Given the description of an element on the screen output the (x, y) to click on. 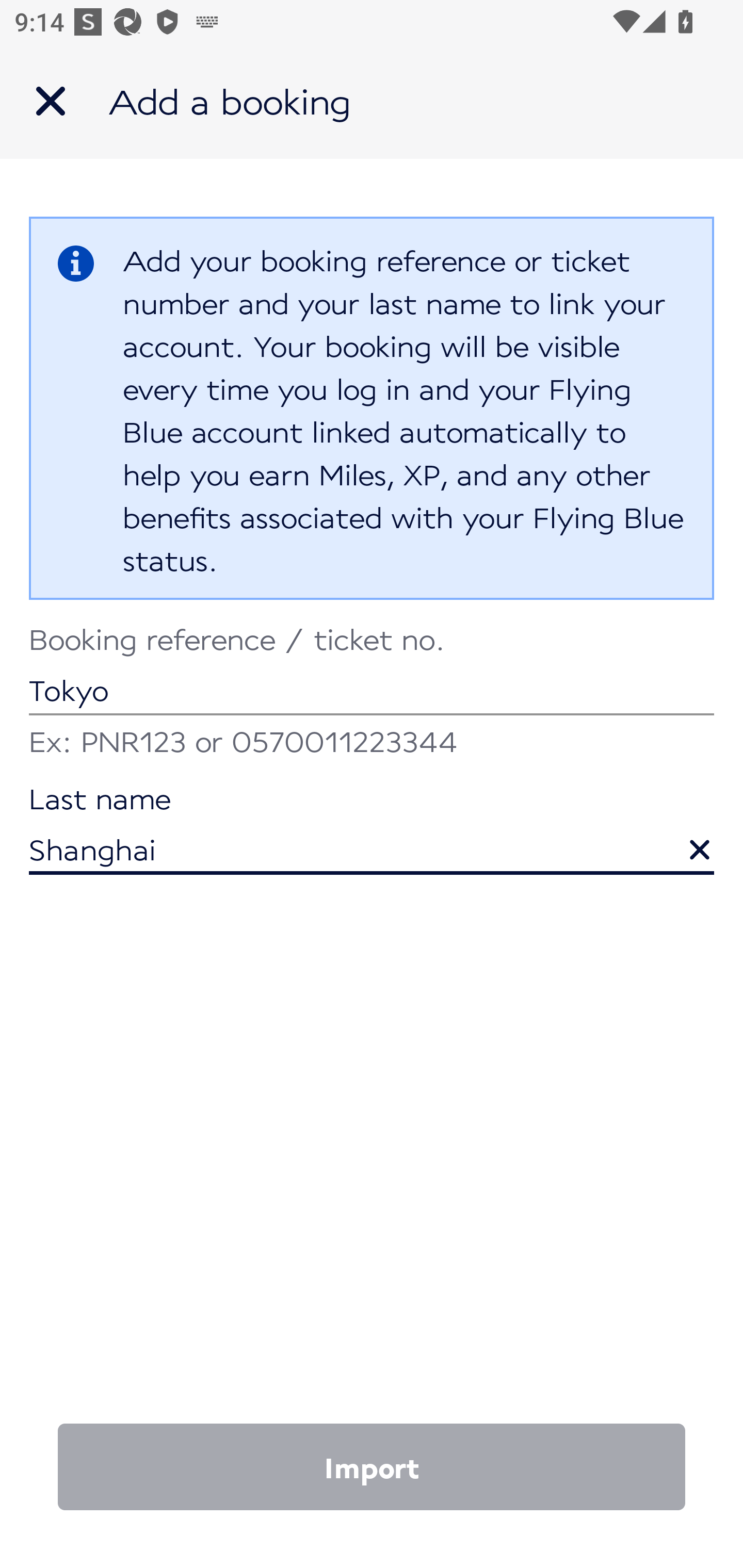
Tokyo Ex: PNR123 or 0570011223344 (371, 693)
Tokyo (371, 671)
Shanghai Clear text (371, 831)
Clear text (685, 839)
Import (371, 1466)
